Given the description of an element on the screen output the (x, y) to click on. 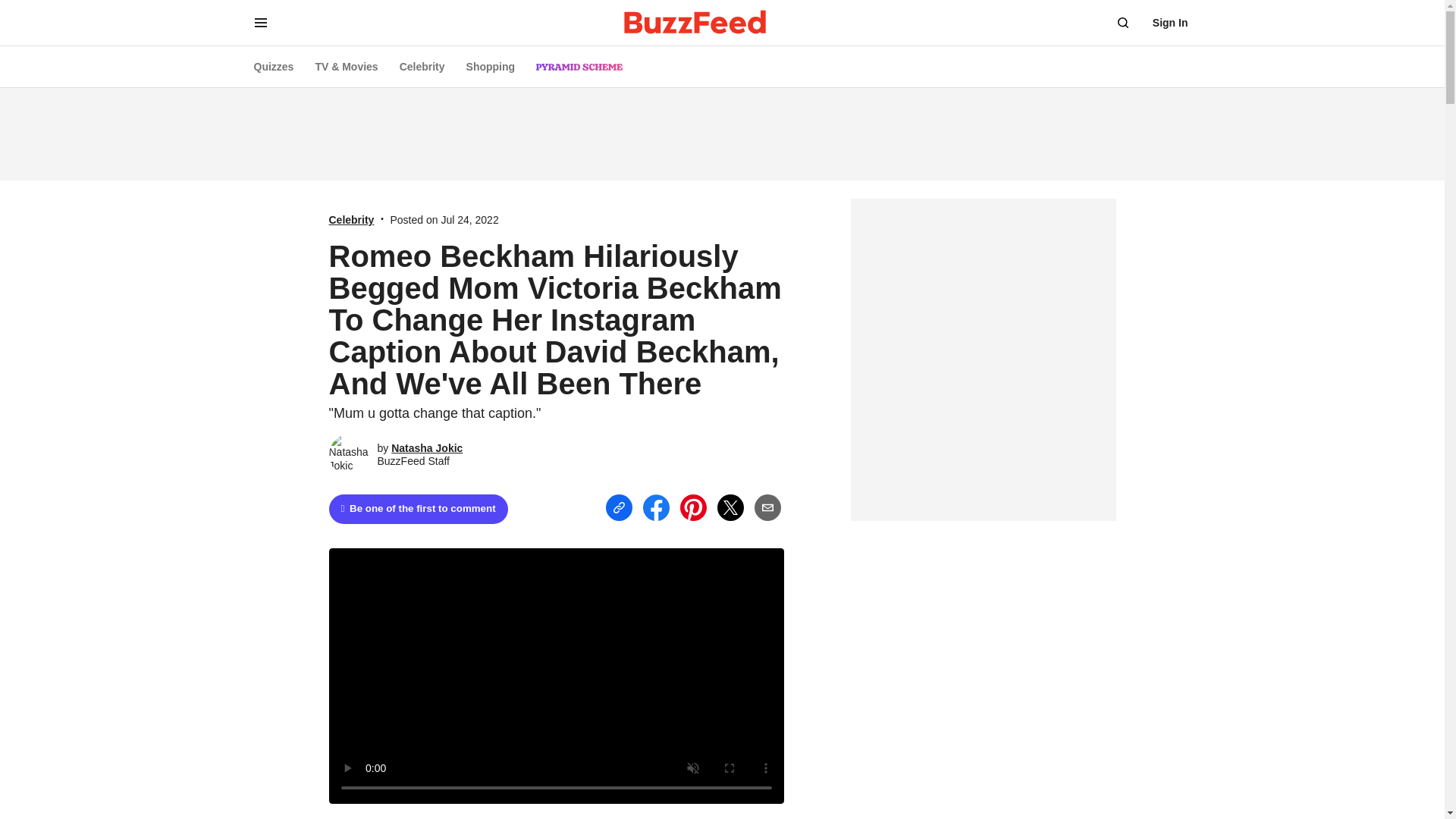
Twitter (730, 507)
Mail (767, 507)
Link (618, 507)
Sign In (1170, 22)
Pinterest (692, 507)
Facebook (656, 507)
